Given the description of an element on the screen output the (x, y) to click on. 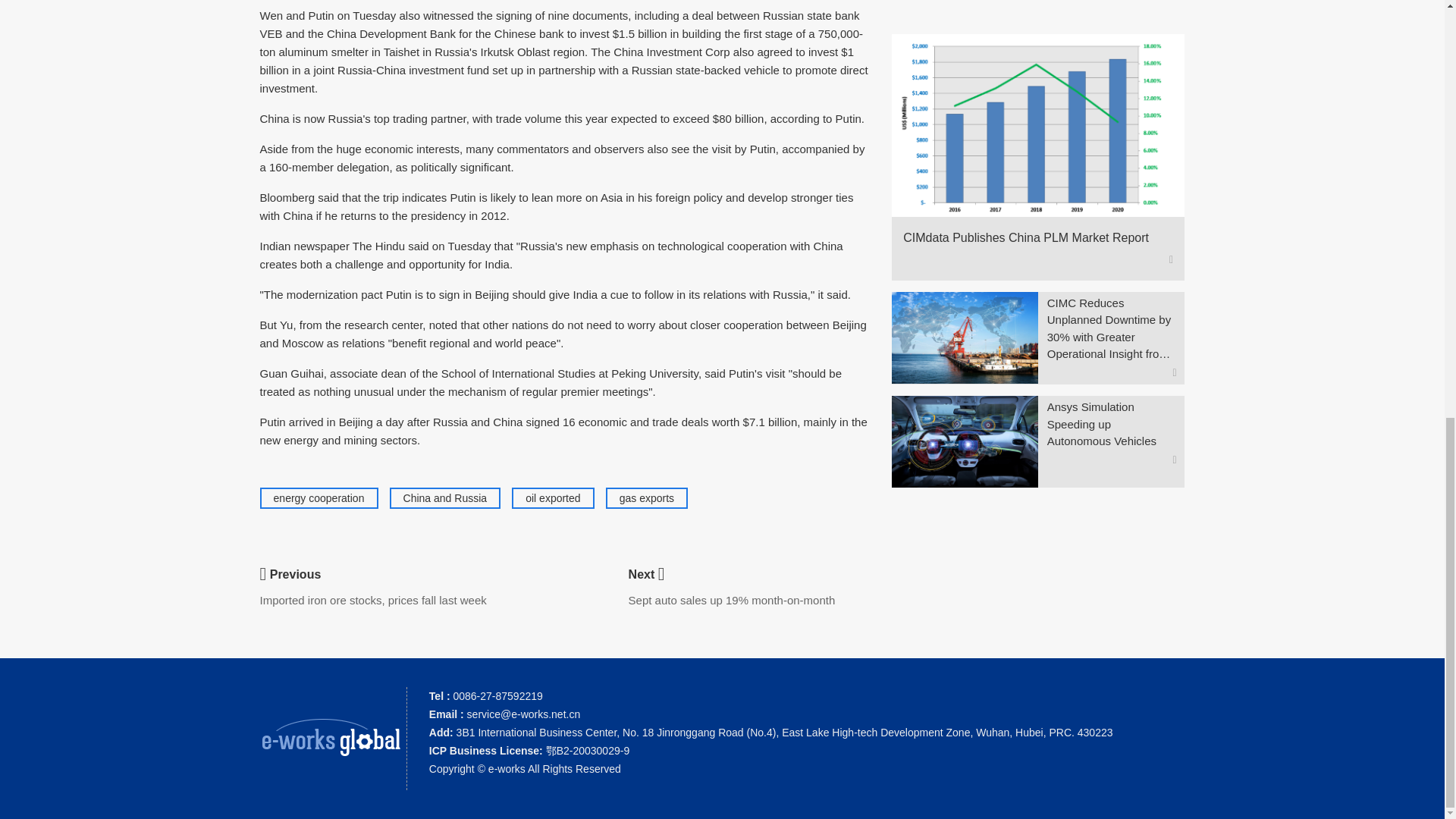
Imported iron ore stocks, prices fall last week (372, 599)
oil exported (552, 498)
Ansys Simulation Speeding up Autonomous Vehicles (1111, 424)
energy cooperation (319, 498)
CIMdata Publishes China PLM Market Report (1030, 238)
gas exports (647, 498)
China and Russia (445, 498)
